Given the description of an element on the screen output the (x, y) to click on. 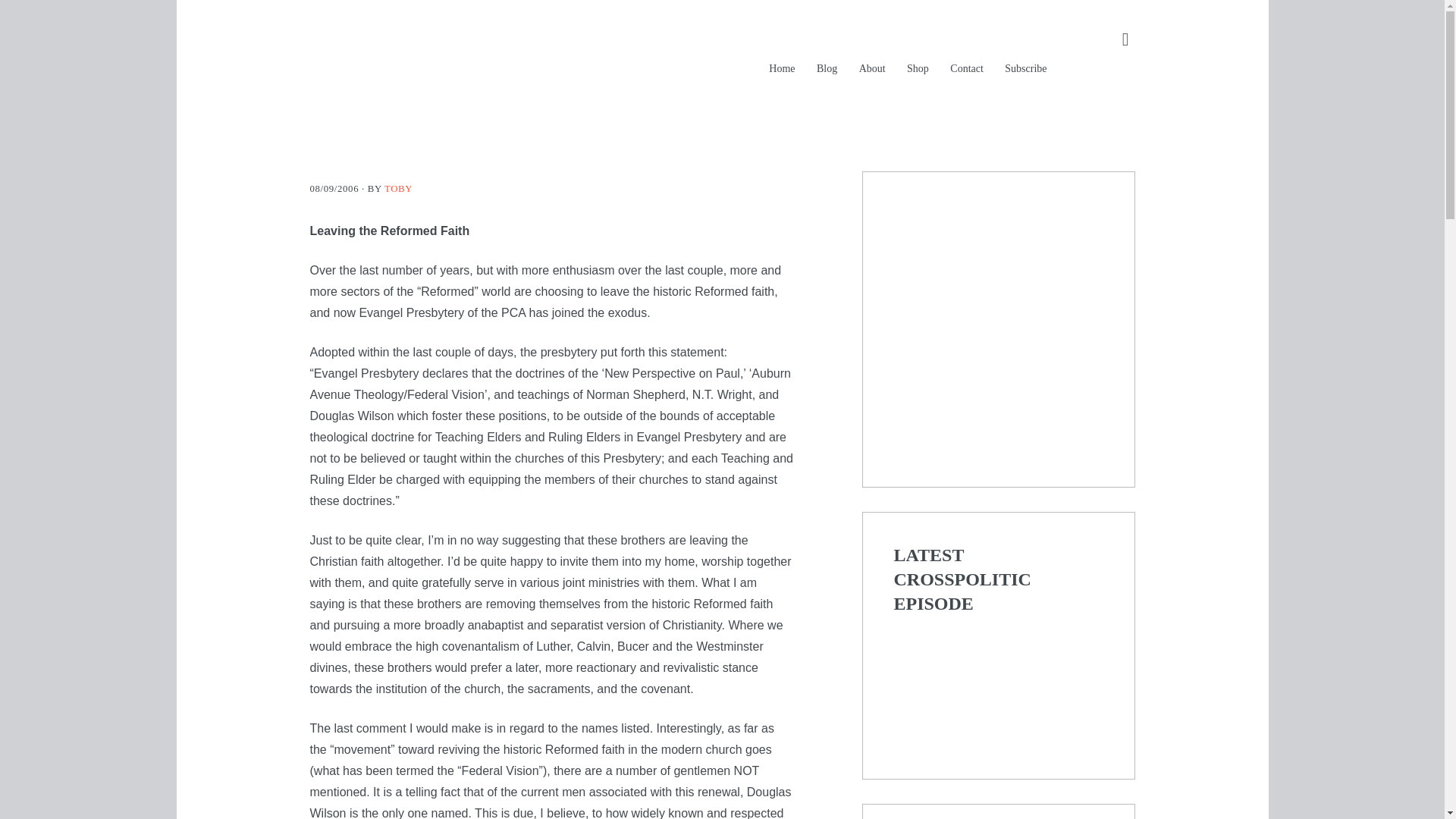
HAVING TWO LEGS (534, 60)
YouTube player (998, 685)
TOBY (398, 188)
